Given the description of an element on the screen output the (x, y) to click on. 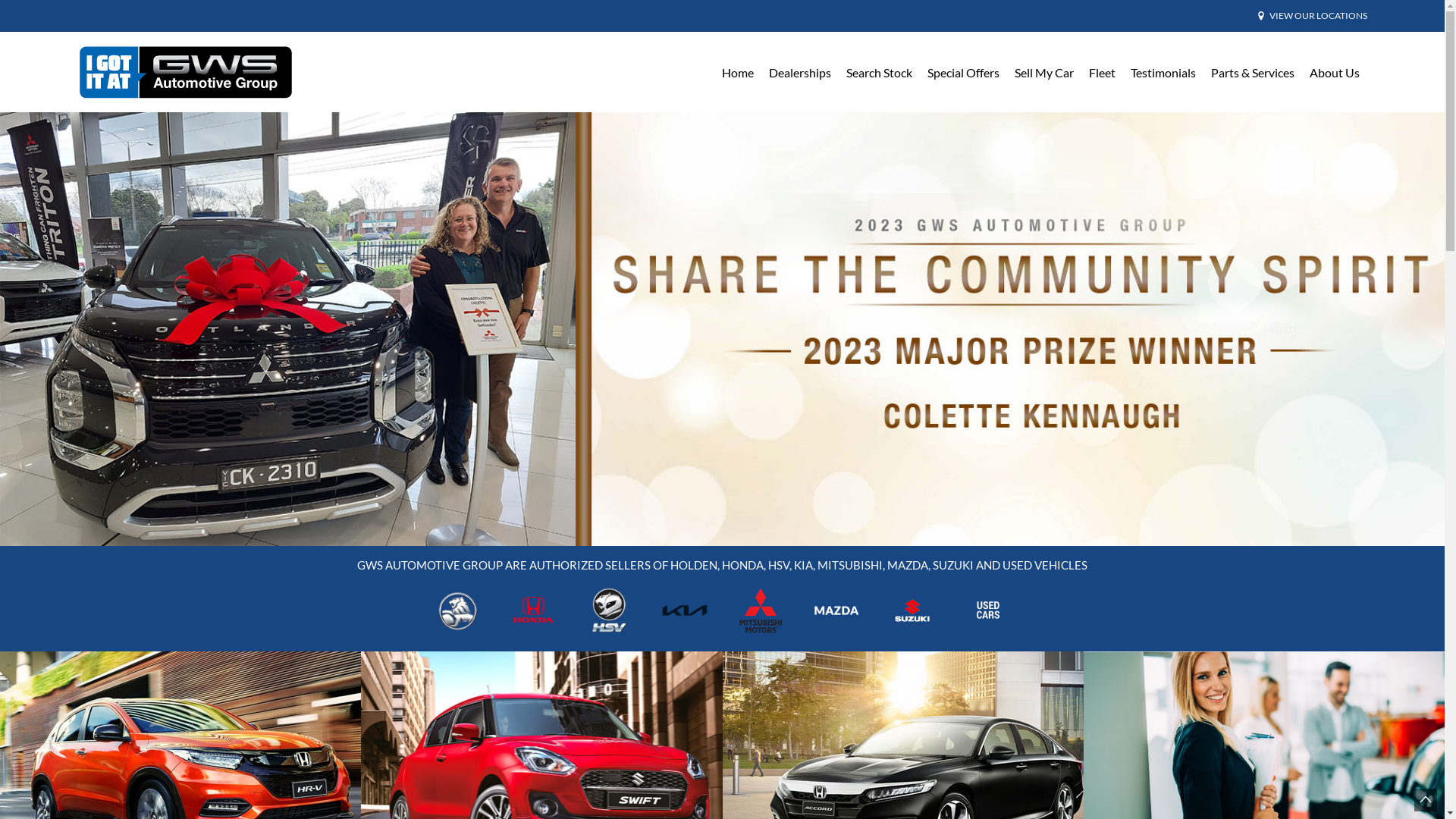
Fleet Element type: text (1102, 72)
Home Element type: text (737, 72)
About Us Element type: text (1333, 72)
Dealerships Element type: text (799, 72)
Special Offers Element type: text (962, 72)
VIEW OUR LOCATIONS Element type: text (1318, 15)
Parts & Services Element type: text (1251, 72)
Testimonials Element type: text (1162, 72)
Sell My Car Element type: text (1044, 72)
Search Stock Element type: text (878, 72)
